Given the description of an element on the screen output the (x, y) to click on. 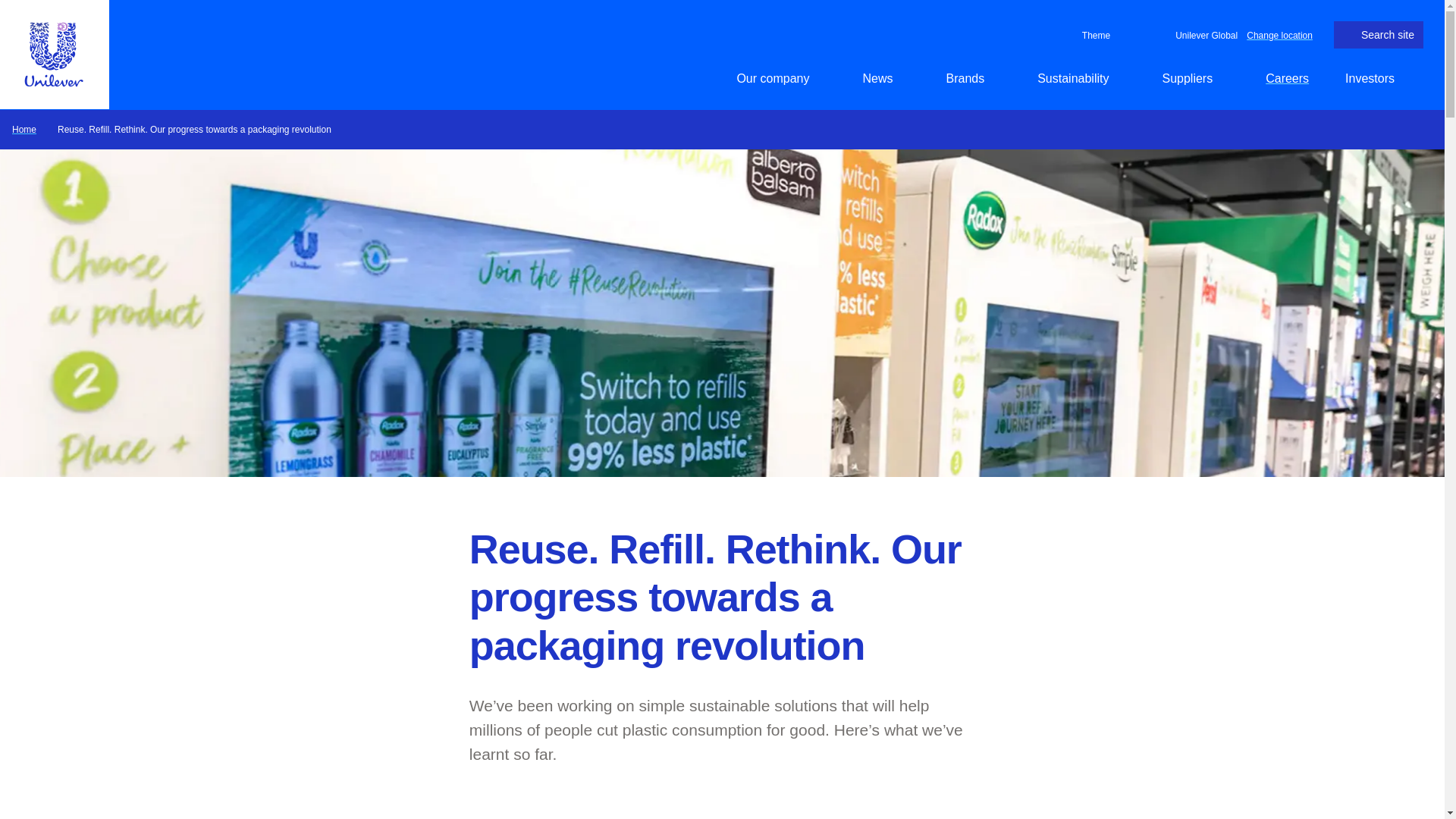
Brands (973, 78)
Search site (1378, 34)
Sustainability (1081, 78)
News (885, 78)
Theme (1093, 35)
Our company (780, 78)
Change location (1279, 34)
